Given the description of an element on the screen output the (x, y) to click on. 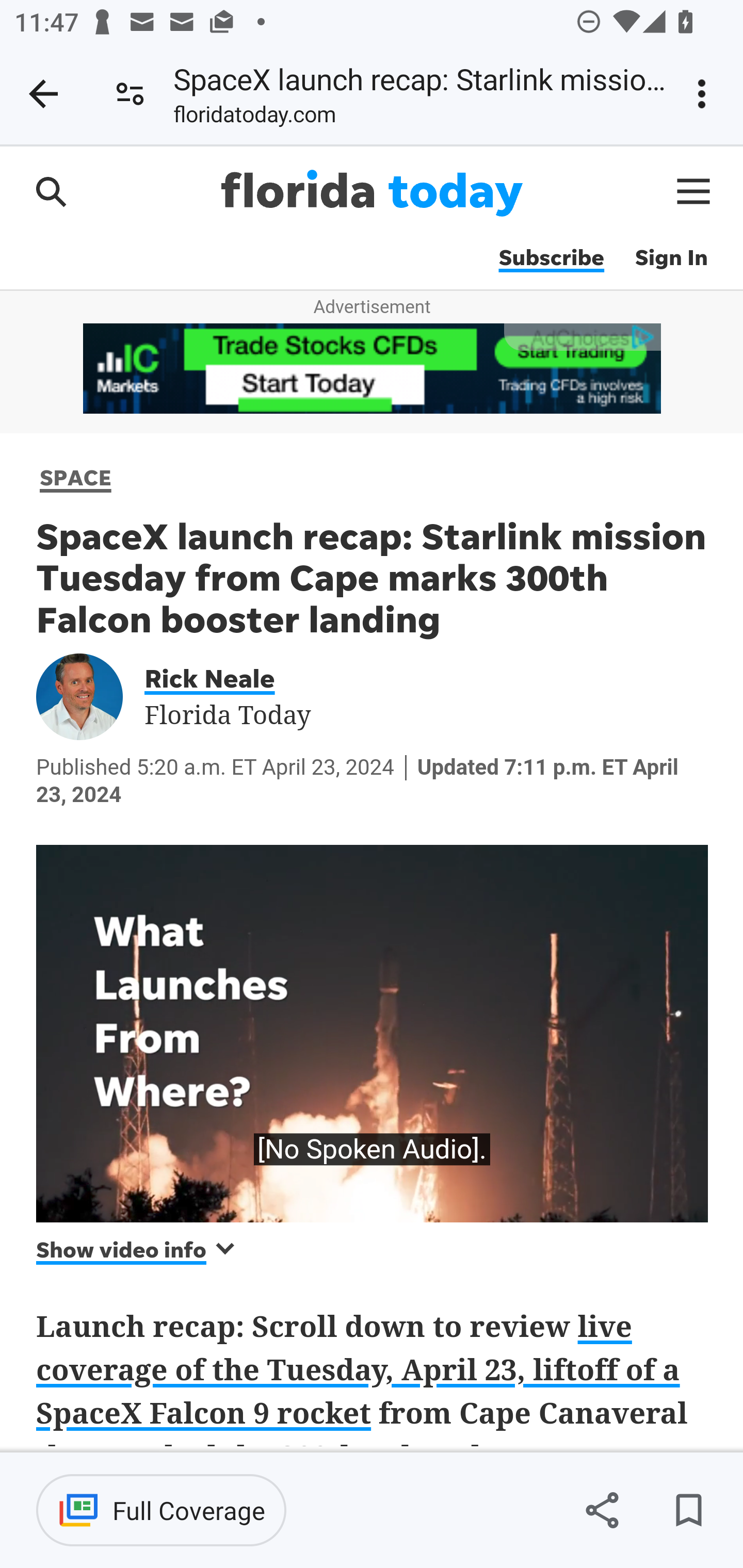
Close tab (43, 93)
Customize and control Google Chrome (705, 93)
Connection is secure (129, 93)
floridatoday.com (254, 117)
Florida Today (371, 193)
Search (50, 191)
Global Navigation (693, 191)
Subscribe (550, 257)
Sign In (671, 257)
contextual ad-choices (582, 336)
SPACE (75, 476)
Rick Neale (222, 677)
Show video info (137, 1249)
Full Coverage (161, 1509)
Share (601, 1510)
Save for later (688, 1510)
